Given the description of an element on the screen output the (x, y) to click on. 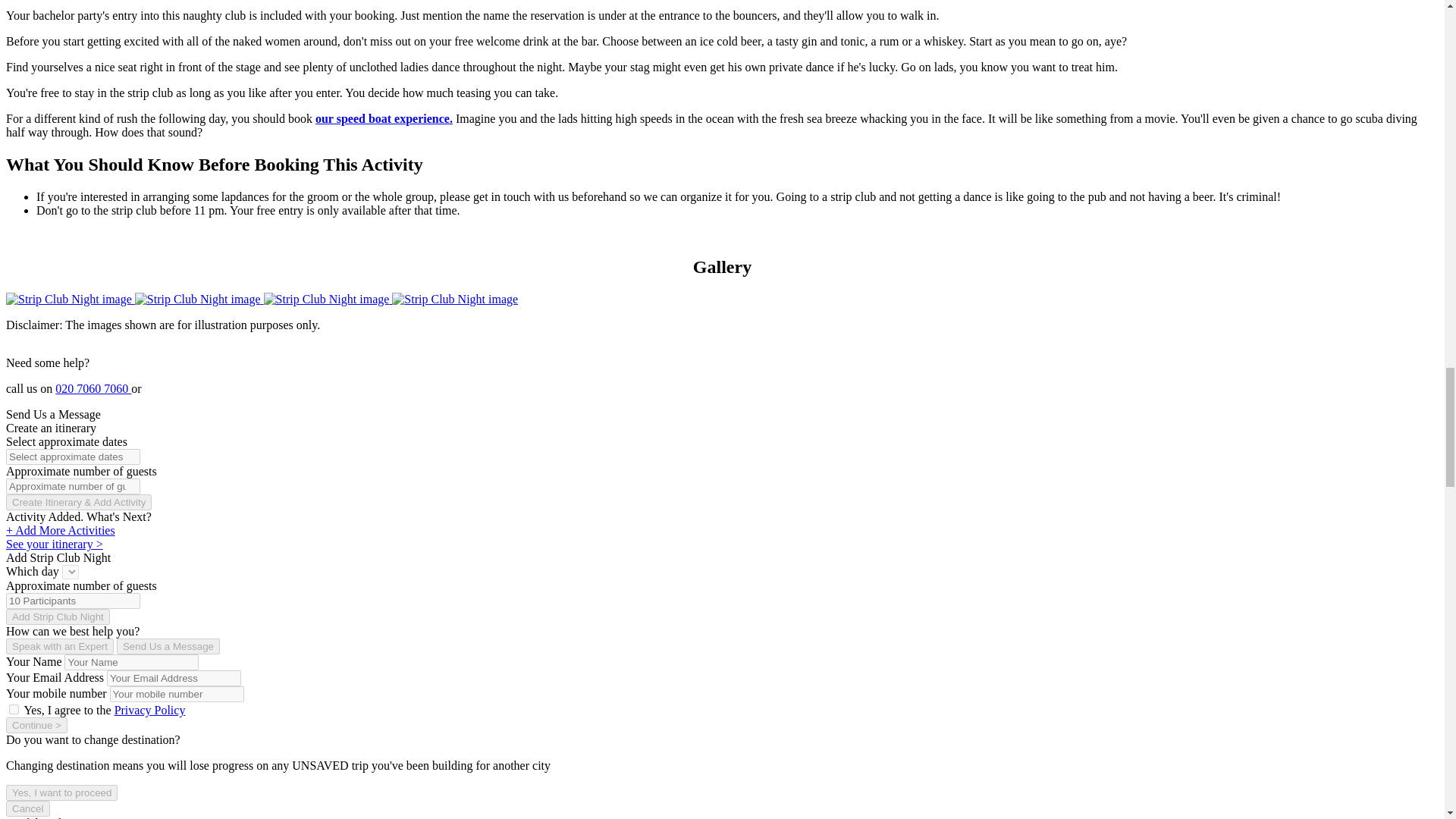
Send Us a Message (167, 646)
020 7060 7060 (93, 388)
our speed boat experience. (383, 118)
Add Strip Club Night (57, 616)
Speak with an Expert (59, 646)
show-all (13, 709)
Send Us a Message (52, 413)
